Given the description of an element on the screen output the (x, y) to click on. 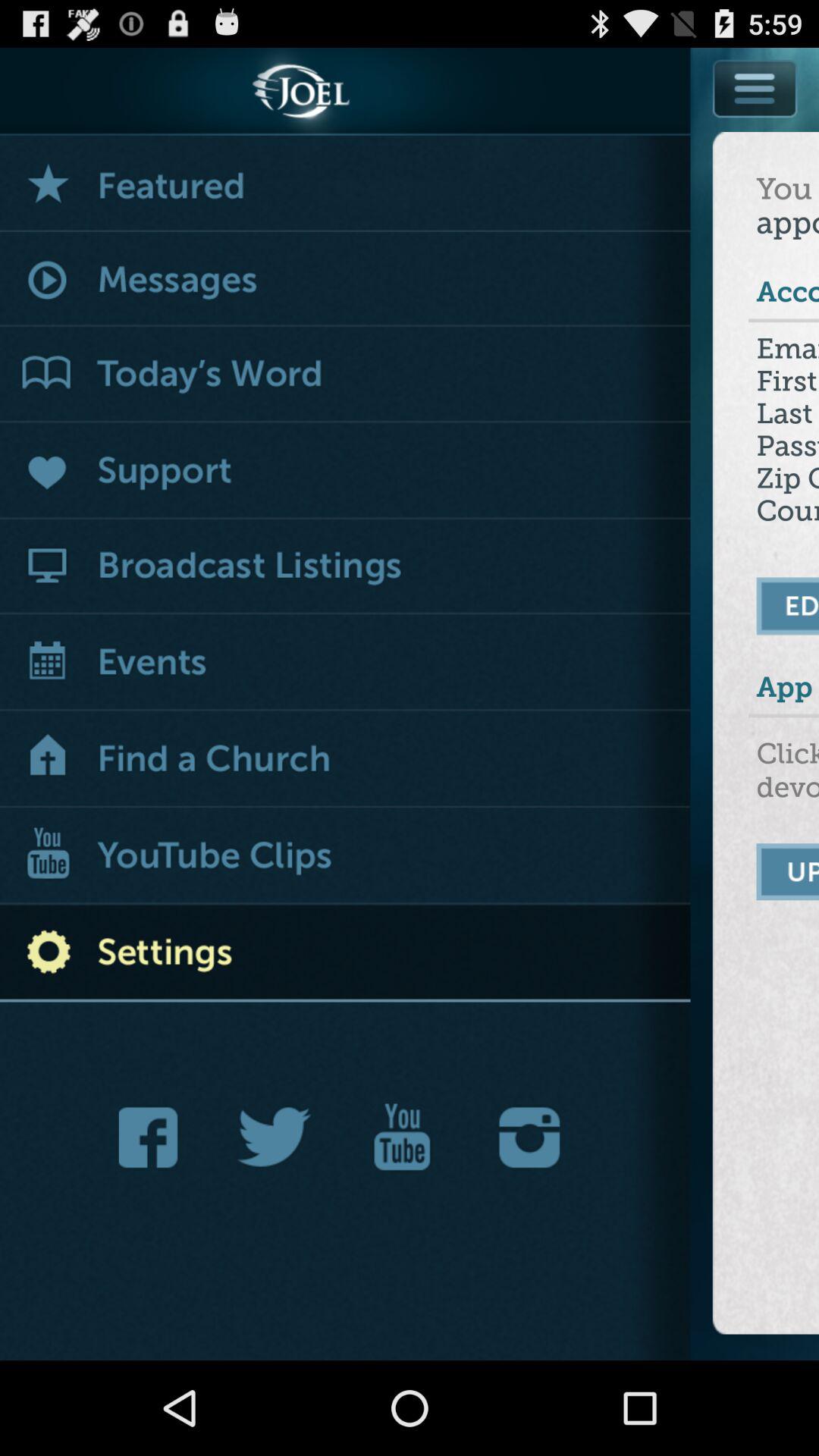
show videos on youtube (345, 856)
